Given the description of an element on the screen output the (x, y) to click on. 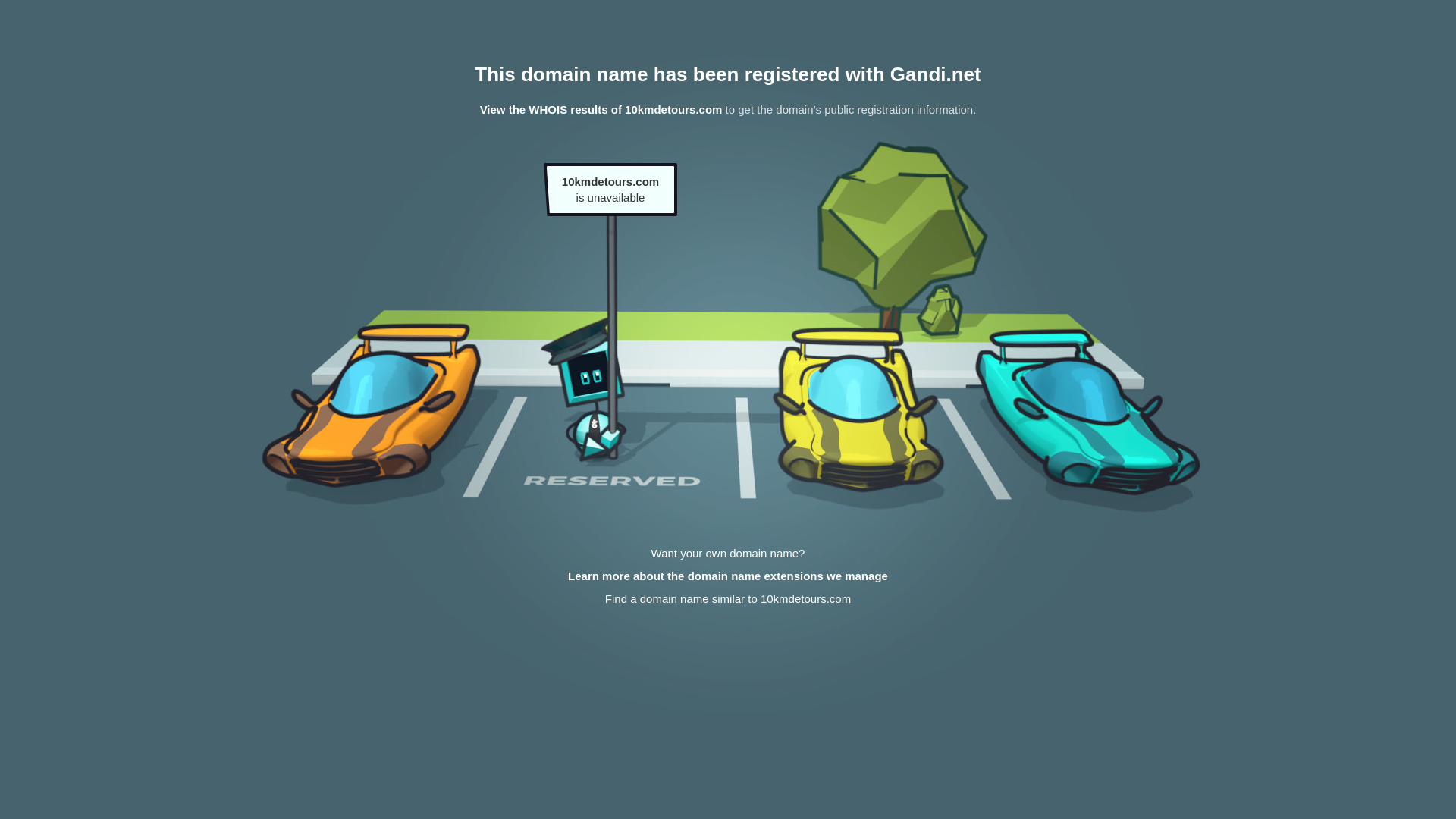
Find a domain name similar to 10kmdetours.com Element type: text (727, 598)
View the WHOIS results of 10kmdetours.com Element type: text (601, 109)
Learn more about the domain name extensions we manage Element type: text (727, 575)
